Given the description of an element on the screen output the (x, y) to click on. 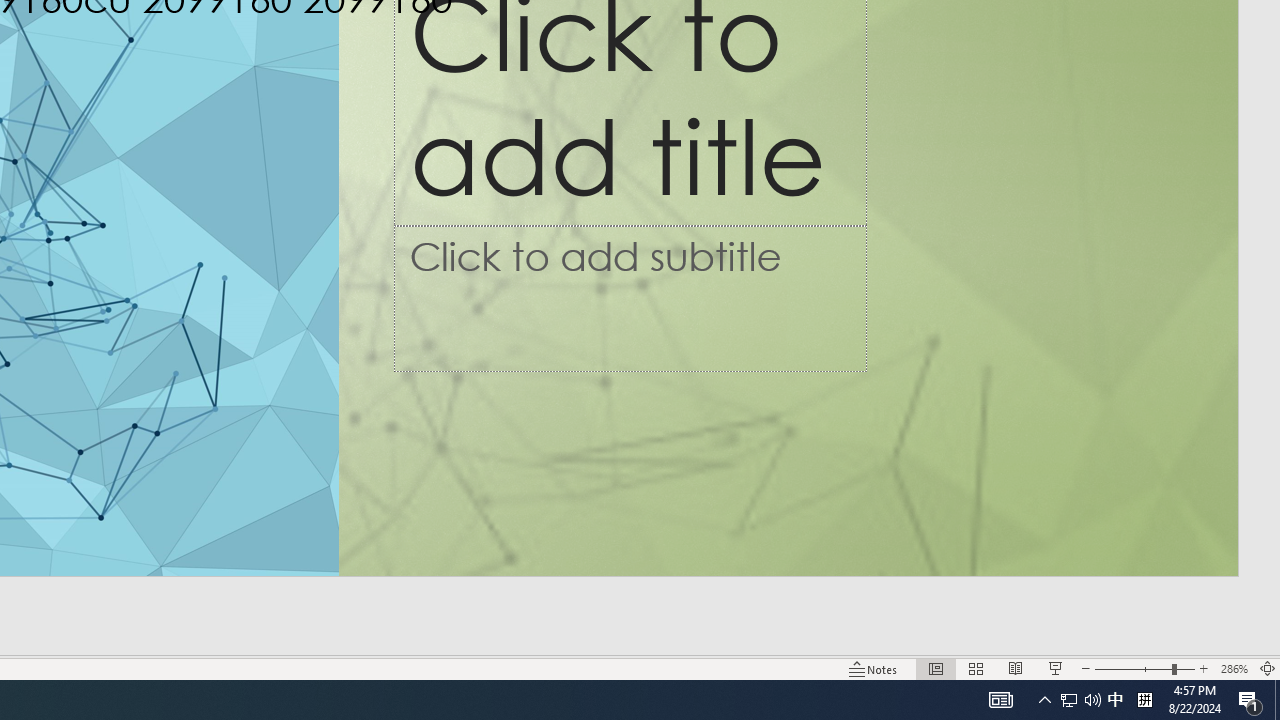
Zoom 286% (1234, 668)
